Given the description of an element on the screen output the (x, y) to click on. 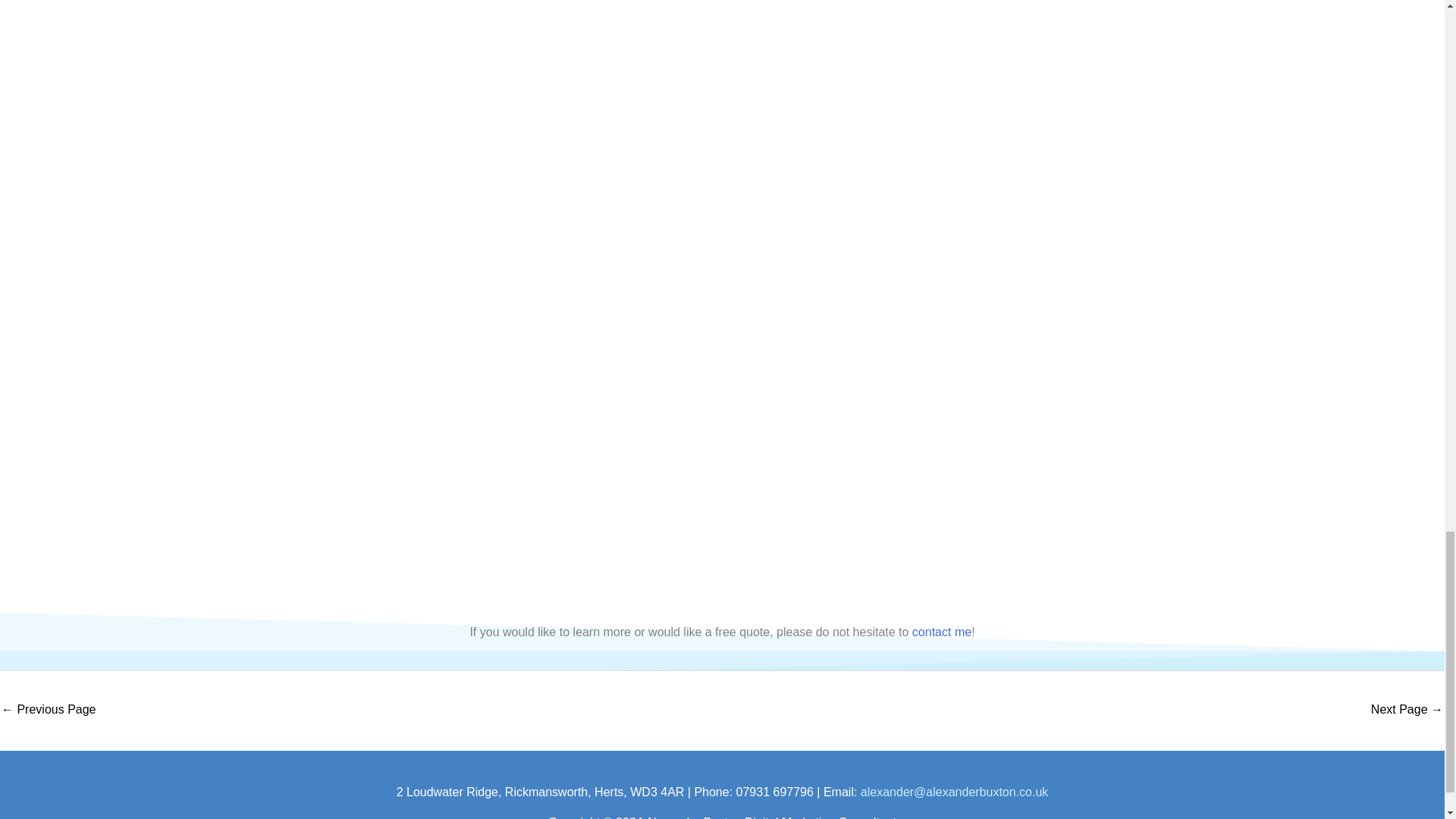
Client Feedback (48, 710)
E-Commerce (1406, 710)
